Given the description of an element on the screen output the (x, y) to click on. 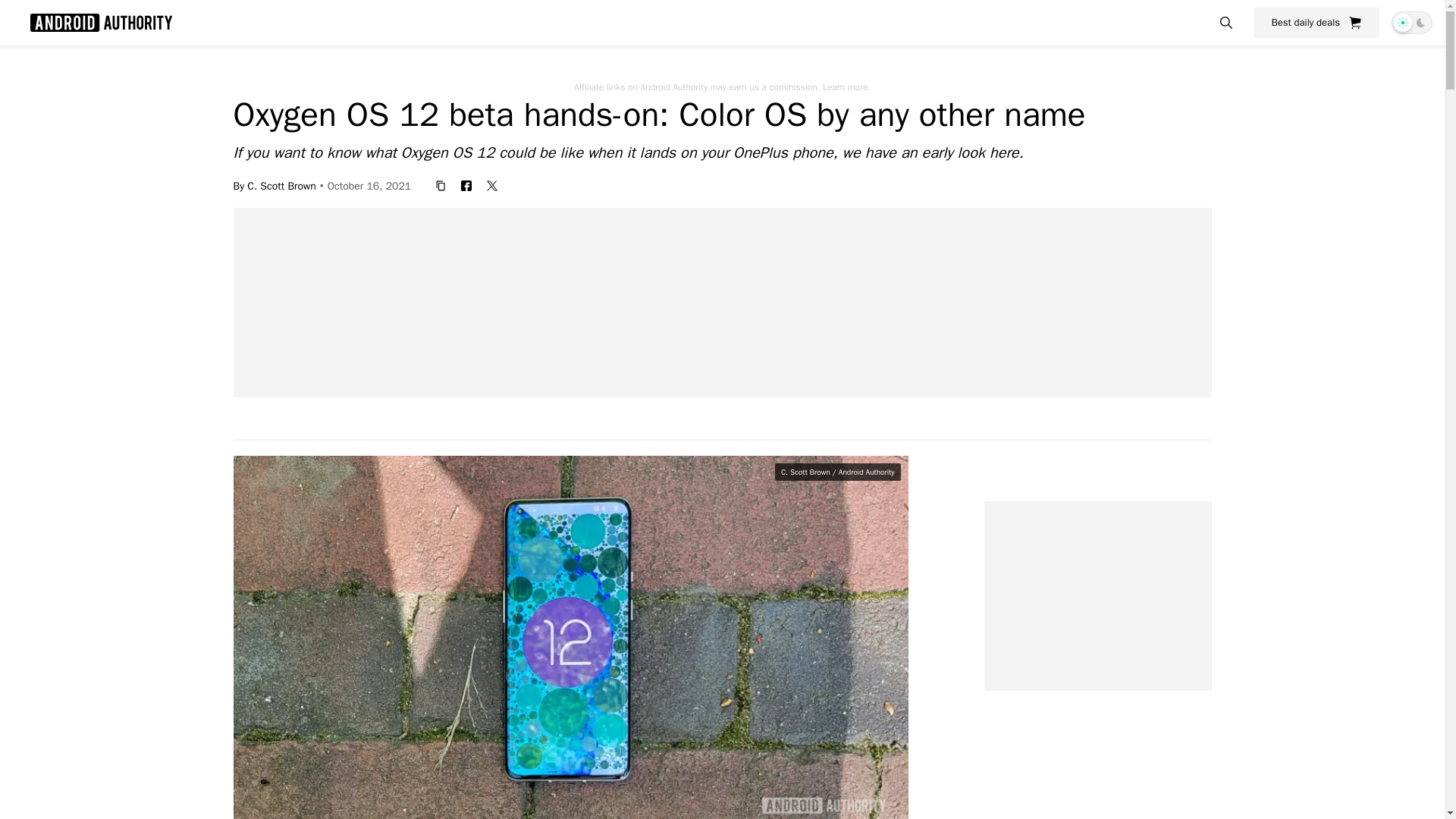
Learn more. (846, 86)
Best daily deals (1315, 22)
twitter (492, 185)
facebook (465, 185)
C. Scott Brown (281, 185)
